Given the description of an element on the screen output the (x, y) to click on. 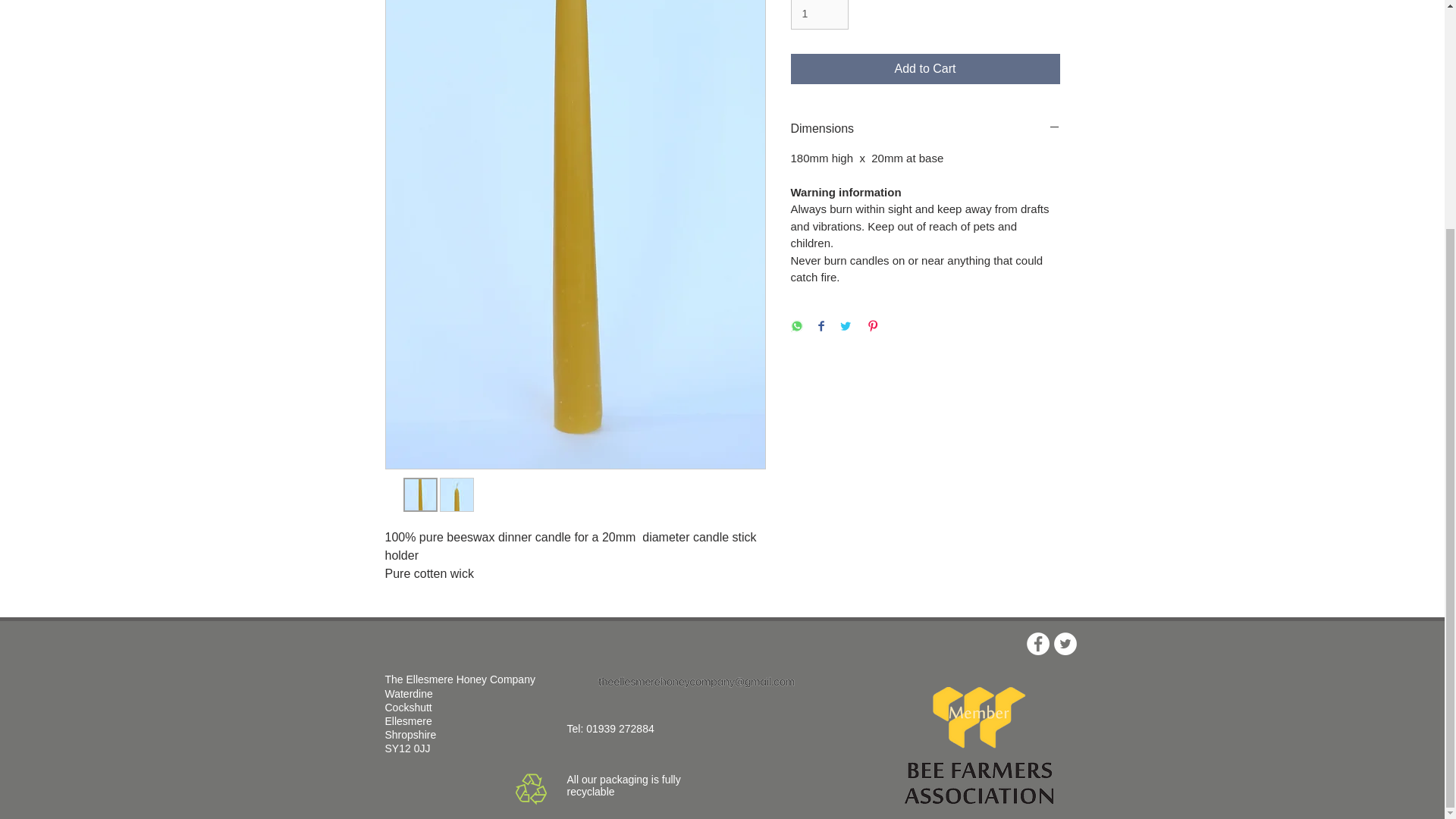
1 (818, 14)
Dimensions (924, 128)
Add to Cart (924, 69)
